Given the description of an element on the screen output the (x, y) to click on. 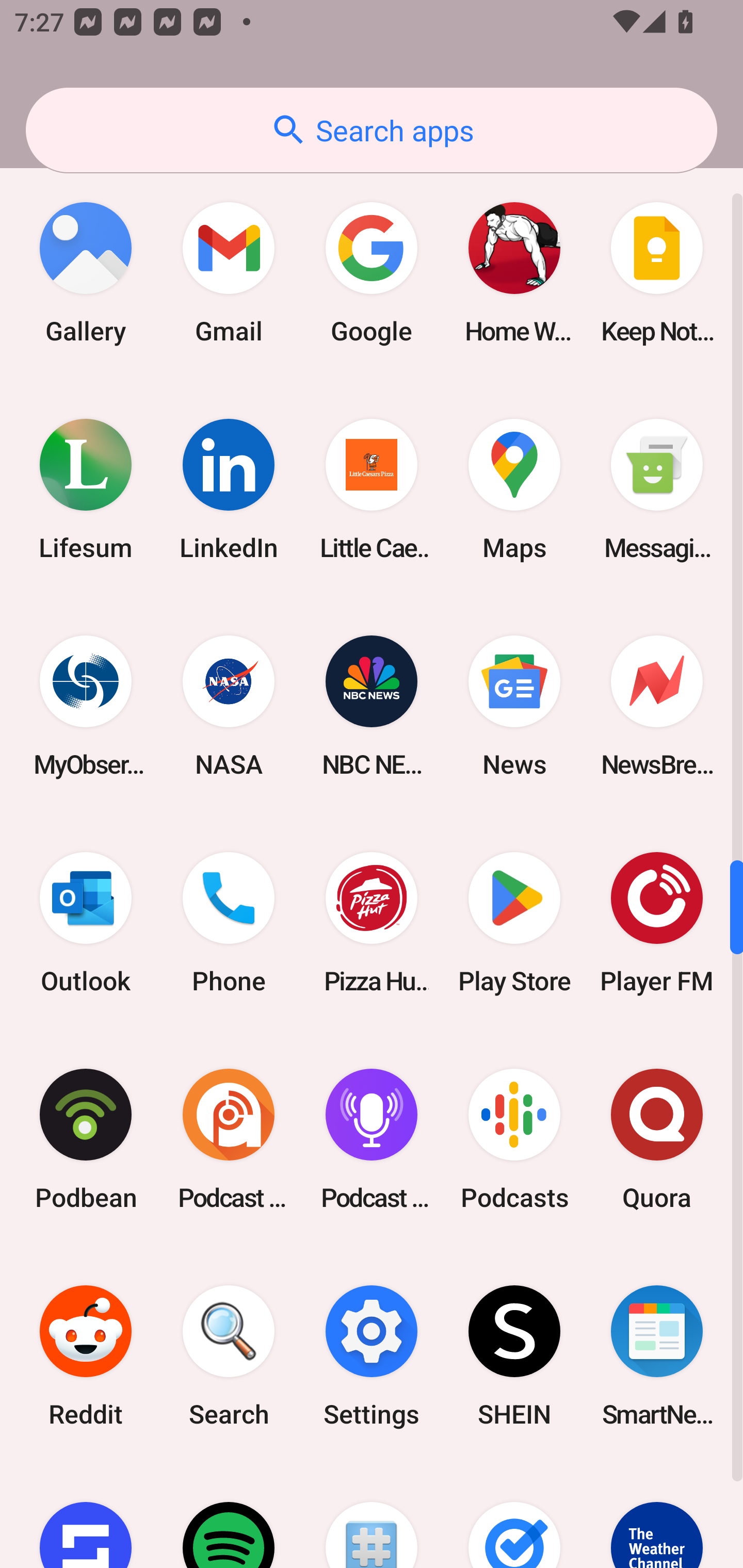
  Search apps (371, 130)
Gallery (85, 272)
Gmail (228, 272)
Google (371, 272)
Home Workout (514, 272)
Keep Notes (656, 272)
Lifesum (85, 489)
LinkedIn (228, 489)
Little Caesars Pizza (371, 489)
Maps (514, 489)
Messaging (656, 489)
MyObservatory (85, 705)
NASA (228, 705)
NBC NEWS (371, 705)
News (514, 705)
NewsBreak (656, 705)
Outlook (85, 922)
Phone (228, 922)
Pizza Hut HK & Macau (371, 922)
Play Store (514, 922)
Player FM (656, 922)
Podbean (85, 1139)
Podcast Addict (228, 1139)
Podcast Player (371, 1139)
Podcasts (514, 1139)
Quora (656, 1139)
Reddit (85, 1356)
Search (228, 1356)
Settings (371, 1356)
SHEIN (514, 1356)
SmartNews (656, 1356)
Sofascore (85, 1516)
Spotify (228, 1516)
Superuser (371, 1516)
Tasks (514, 1516)
The Weather Channel (656, 1516)
